Given the description of an element on the screen output the (x, y) to click on. 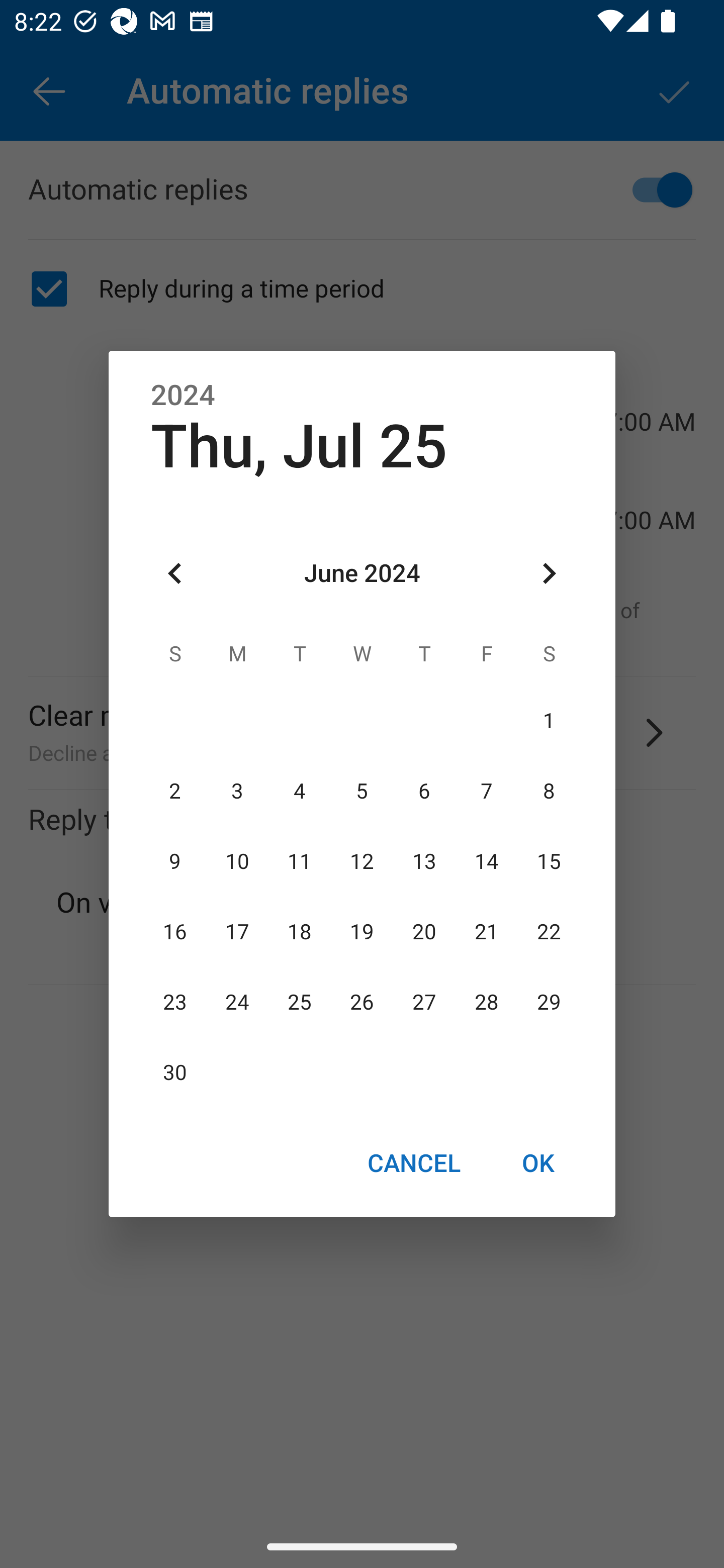
2024 (182, 395)
Thu, Jul 25 (298, 446)
Previous month (174, 573)
Next month (548, 573)
1 01 June 2024 (548, 720)
2 02 June 2024 (175, 790)
3 03 June 2024 (237, 790)
4 04 June 2024 (299, 790)
5 05 June 2024 (361, 790)
6 06 June 2024 (424, 790)
7 07 June 2024 (486, 790)
8 08 June 2024 (548, 790)
9 09 June 2024 (175, 861)
10 10 June 2024 (237, 861)
11 11 June 2024 (299, 861)
12 12 June 2024 (361, 861)
13 13 June 2024 (424, 861)
14 14 June 2024 (486, 861)
15 15 June 2024 (548, 861)
16 16 June 2024 (175, 931)
17 17 June 2024 (237, 931)
18 18 June 2024 (299, 931)
19 19 June 2024 (361, 931)
20 20 June 2024 (424, 931)
21 21 June 2024 (486, 931)
22 22 June 2024 (548, 931)
23 23 June 2024 (175, 1002)
24 24 June 2024 (237, 1002)
25 25 June 2024 (299, 1002)
26 26 June 2024 (361, 1002)
27 27 June 2024 (424, 1002)
28 28 June 2024 (486, 1002)
29 29 June 2024 (548, 1002)
30 30 June 2024 (175, 1073)
CANCEL (413, 1162)
OK (537, 1162)
